Given the description of an element on the screen output the (x, y) to click on. 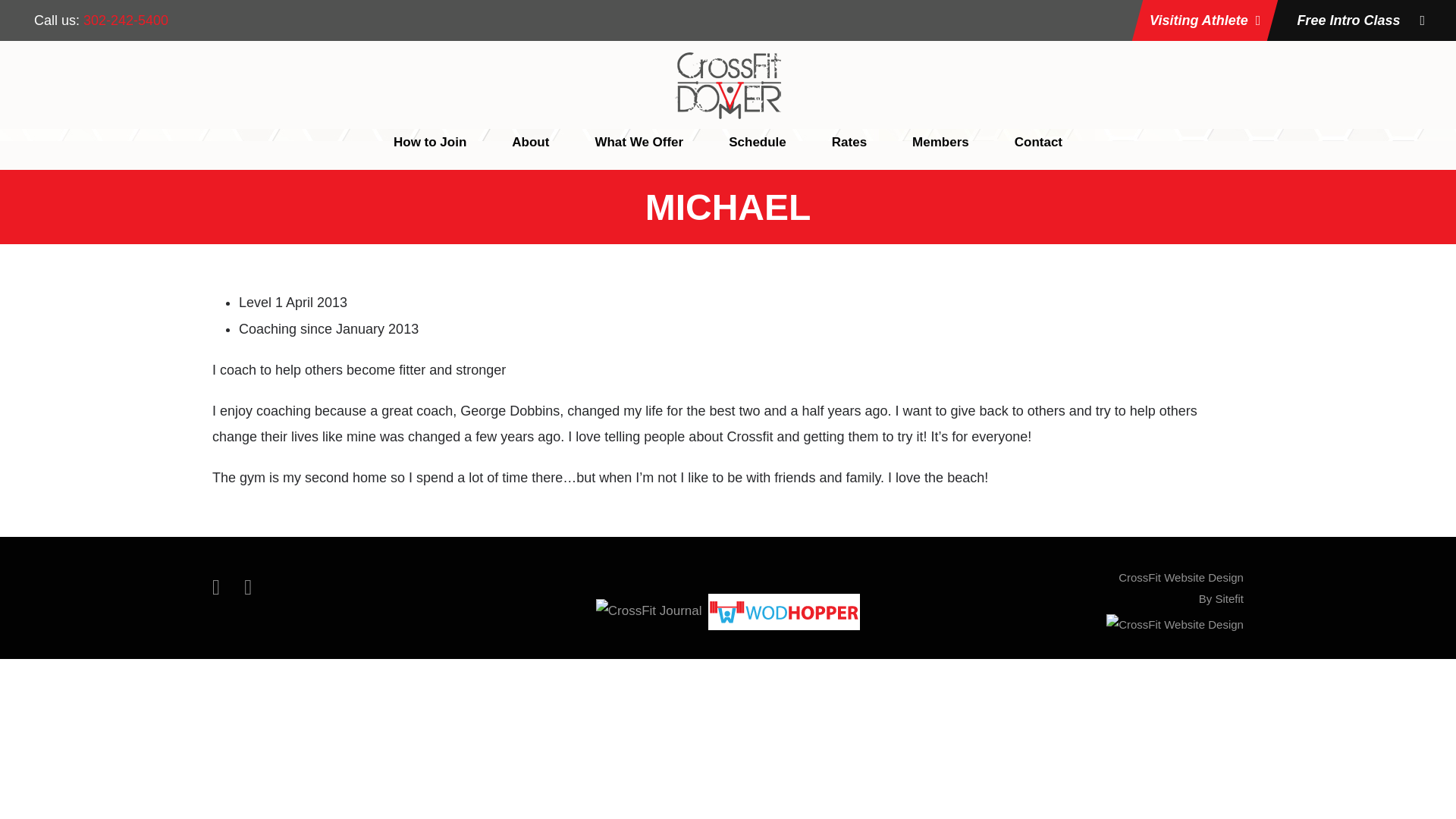
Free Intro Class (1354, 20)
Schedule (757, 150)
What We Offer (638, 150)
How to Join (429, 150)
About (530, 150)
Contact (1180, 588)
CrossFit Website Design (1038, 150)
Members (1174, 624)
Visiting Athlete (940, 150)
